Given the description of an element on the screen output the (x, y) to click on. 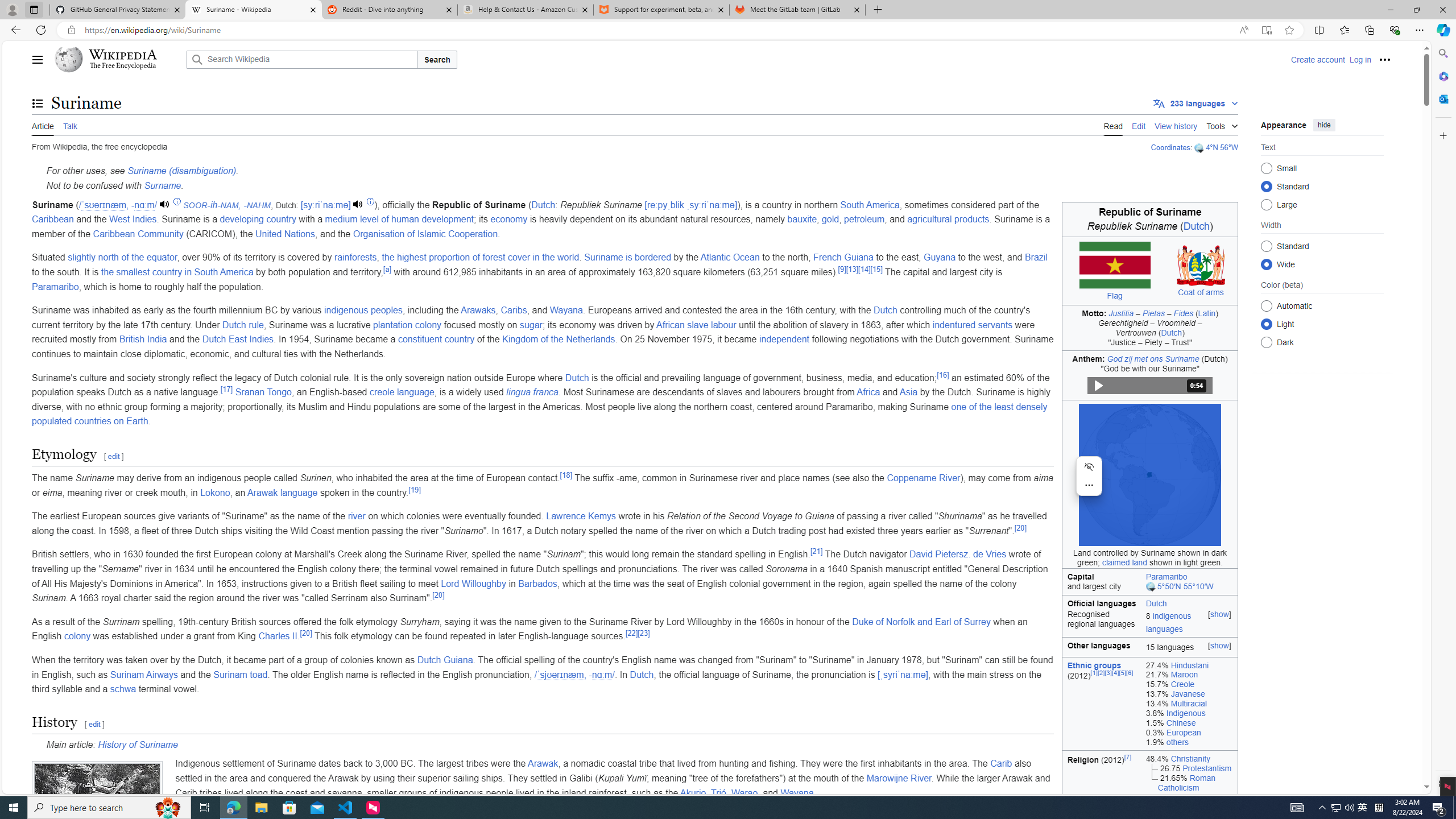
Dutch Guiana (444, 659)
More actions (1088, 484)
Dutch (1189, 602)
Arawaks (478, 310)
[17] (225, 388)
Kingdom of the Netherlands (558, 339)
Small (1266, 167)
